Given the description of an element on the screen output the (x, y) to click on. 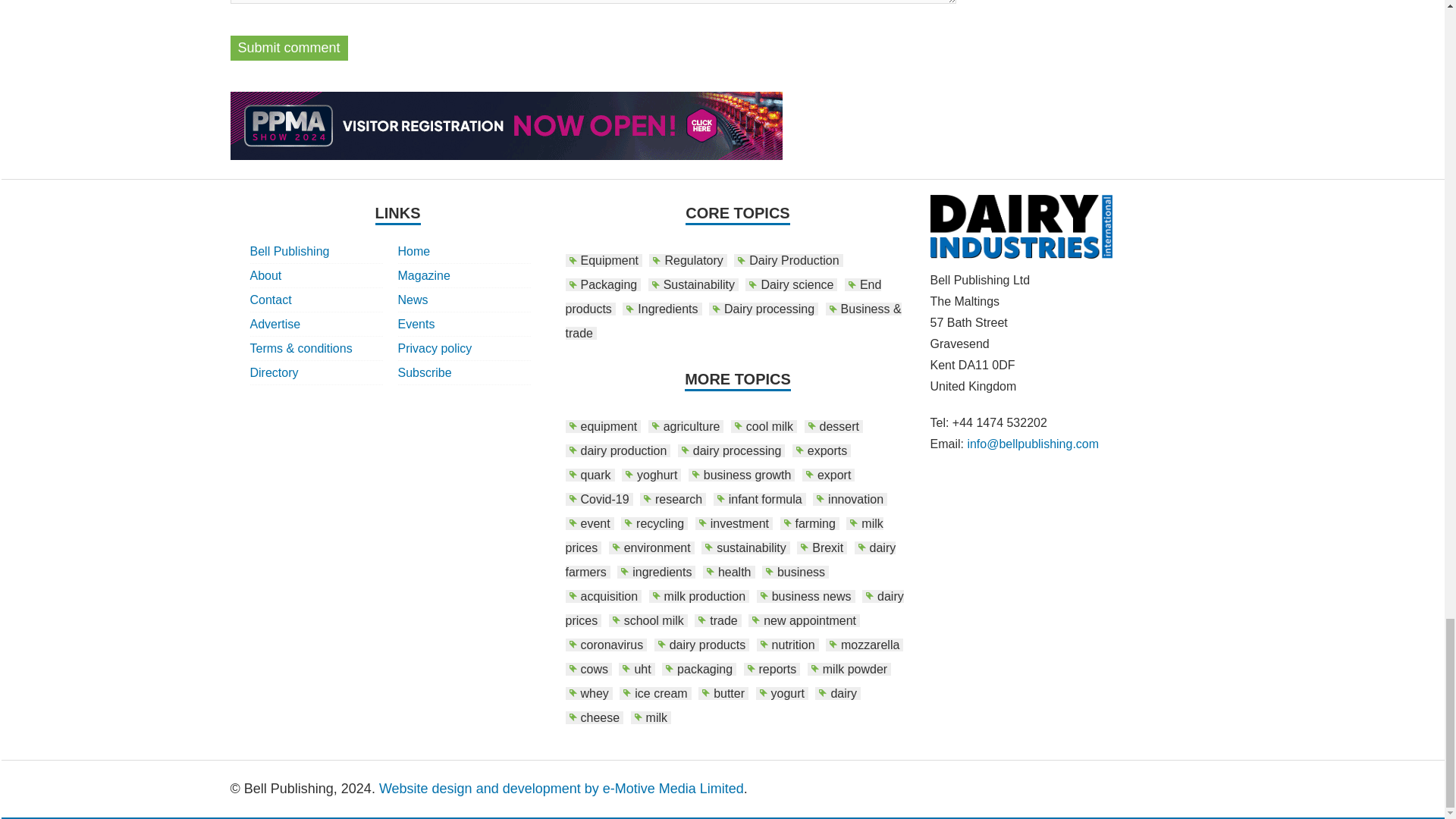
Submit comment (288, 48)
